Given the description of an element on the screen output the (x, y) to click on. 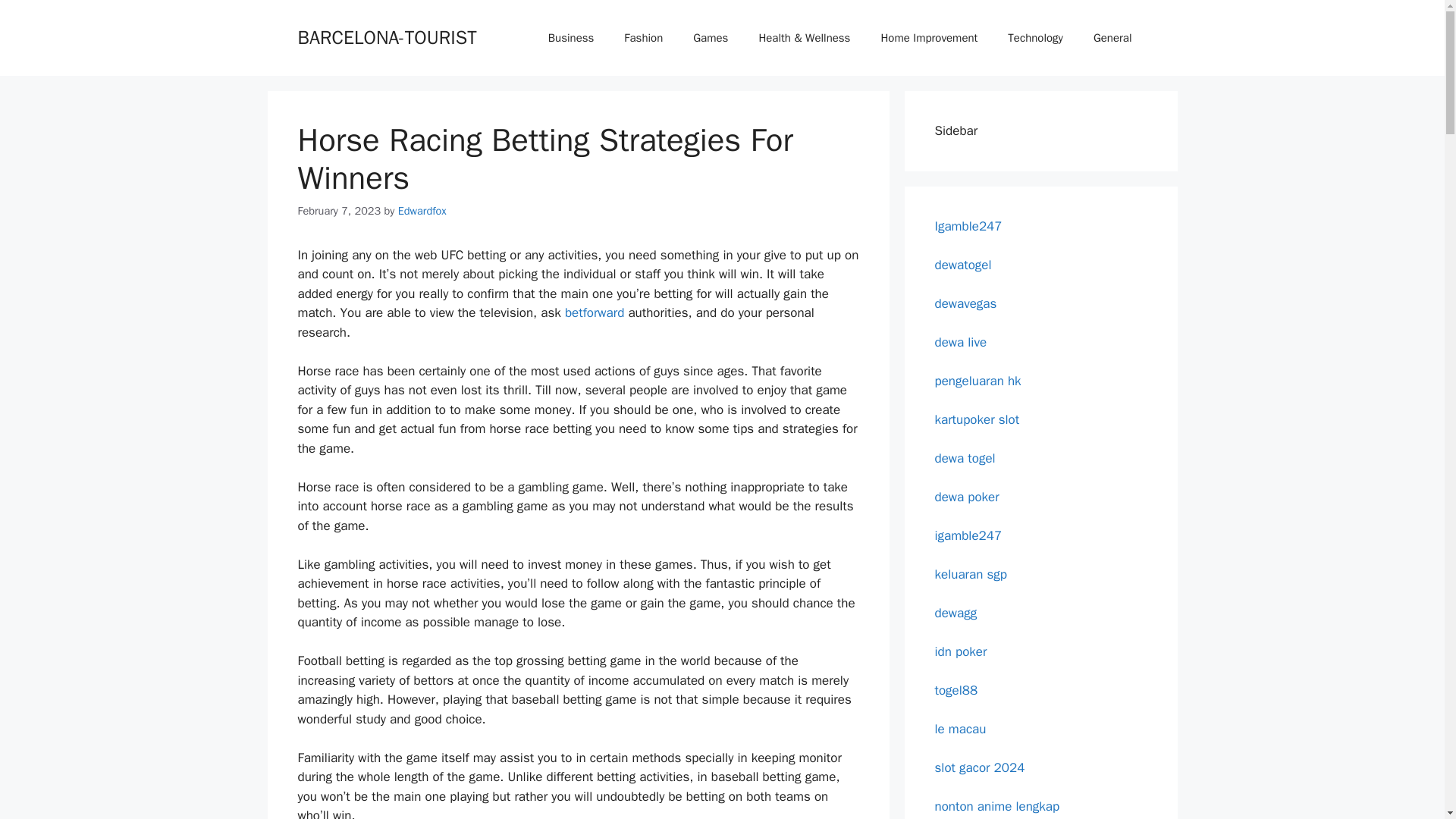
dewa live (960, 341)
dewa togel (964, 458)
idn poker (960, 650)
togel88 (955, 690)
kartupoker slot (976, 418)
Technology (1035, 37)
dewavegas (964, 303)
dewa poker (966, 496)
slot gacor 2024 (979, 767)
BARCELONA-TOURIST (386, 37)
